Given the description of an element on the screen output the (x, y) to click on. 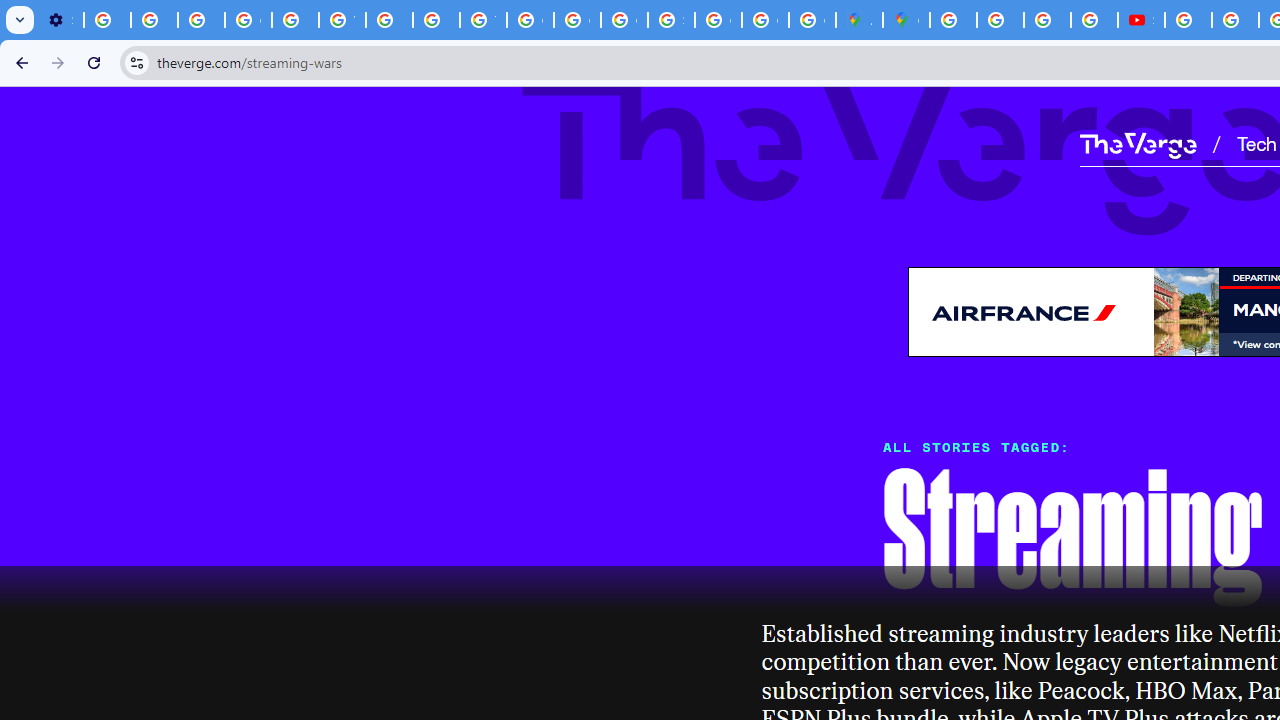
Privacy Help Center - Policies Help (999, 20)
Sign in - Google Accounts (671, 20)
Tech (1256, 142)
Privacy Help Center - Policies Help (1047, 20)
Google Maps (906, 20)
YouTube (342, 20)
